Given the description of an element on the screen output the (x, y) to click on. 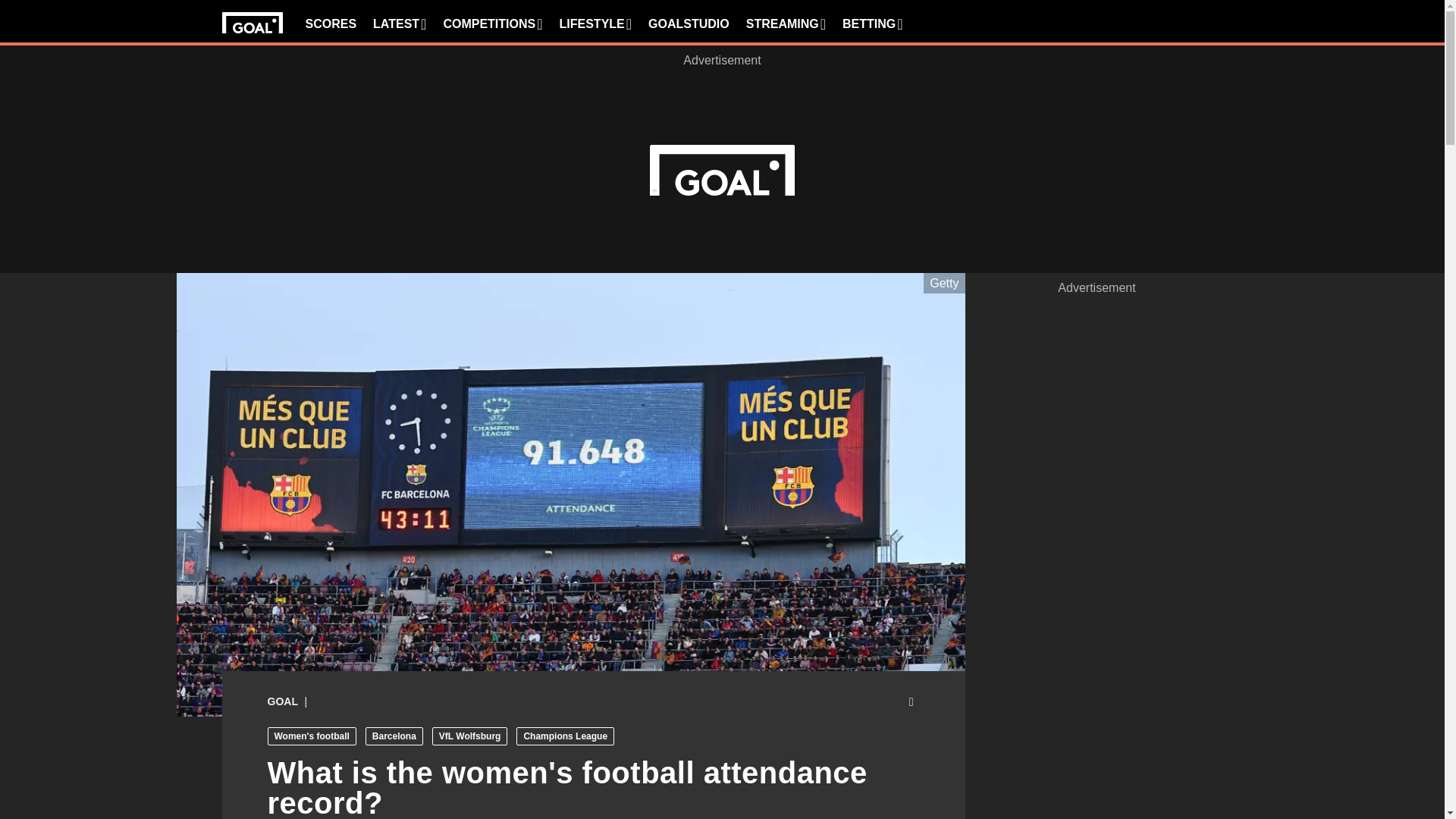
Barcelona (394, 736)
Champions League (565, 736)
Women's football (310, 736)
VfL Wolfsburg (470, 736)
SCORES (330, 23)
COMPETITIONS (491, 23)
LATEST (399, 23)
